Given the description of an element on the screen output the (x, y) to click on. 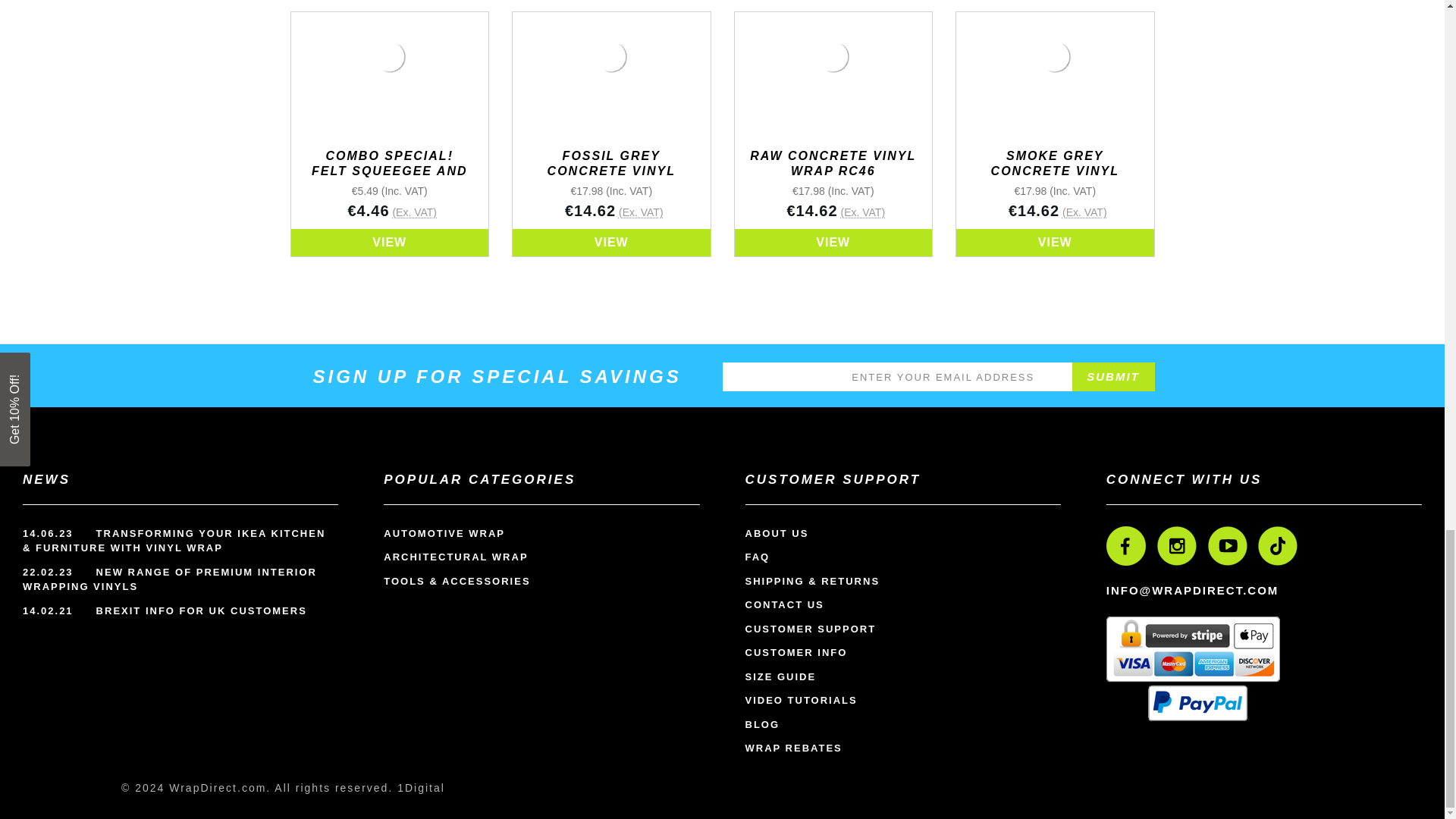
RAW CONCRETE VINYL WRAP RC46 (832, 56)
SMOKE GREY CONCRETE VINYL WRAP SGC47 (1054, 56)
Excluding Tax (640, 212)
Excluding Tax (1084, 212)
Excluding Tax (862, 212)
Excluding Tax (413, 212)
FOSSIL GREY CONCRETE VINYL WRAP FGC49 (611, 56)
Combo Special! Felt Squeegee and 9mm Retractable Blade (390, 56)
